Given the description of an element on the screen output the (x, y) to click on. 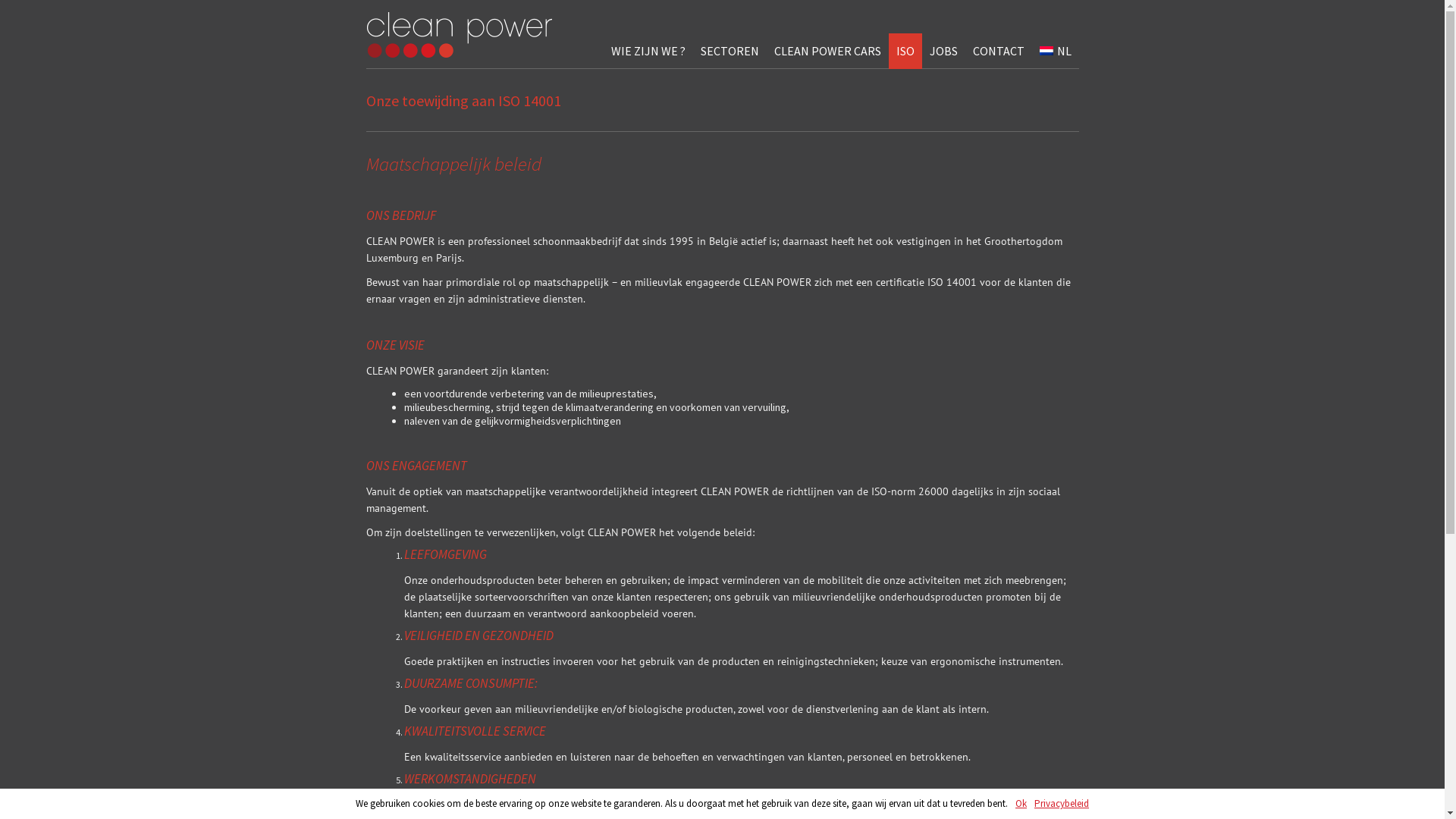
Privacybeleid Element type: text (1061, 803)
NL Element type: text (1055, 50)
CONTACT Element type: text (998, 50)
CLEAN POWER CARS Element type: text (827, 50)
SECTOREN Element type: text (729, 50)
Ok Element type: text (1020, 803)
WIE ZIJN WE ? Element type: text (648, 50)
JOBS Element type: text (943, 50)
NL Element type: hover (1046, 50)
ISO Element type: text (905, 50)
